Given the description of an element on the screen output the (x, y) to click on. 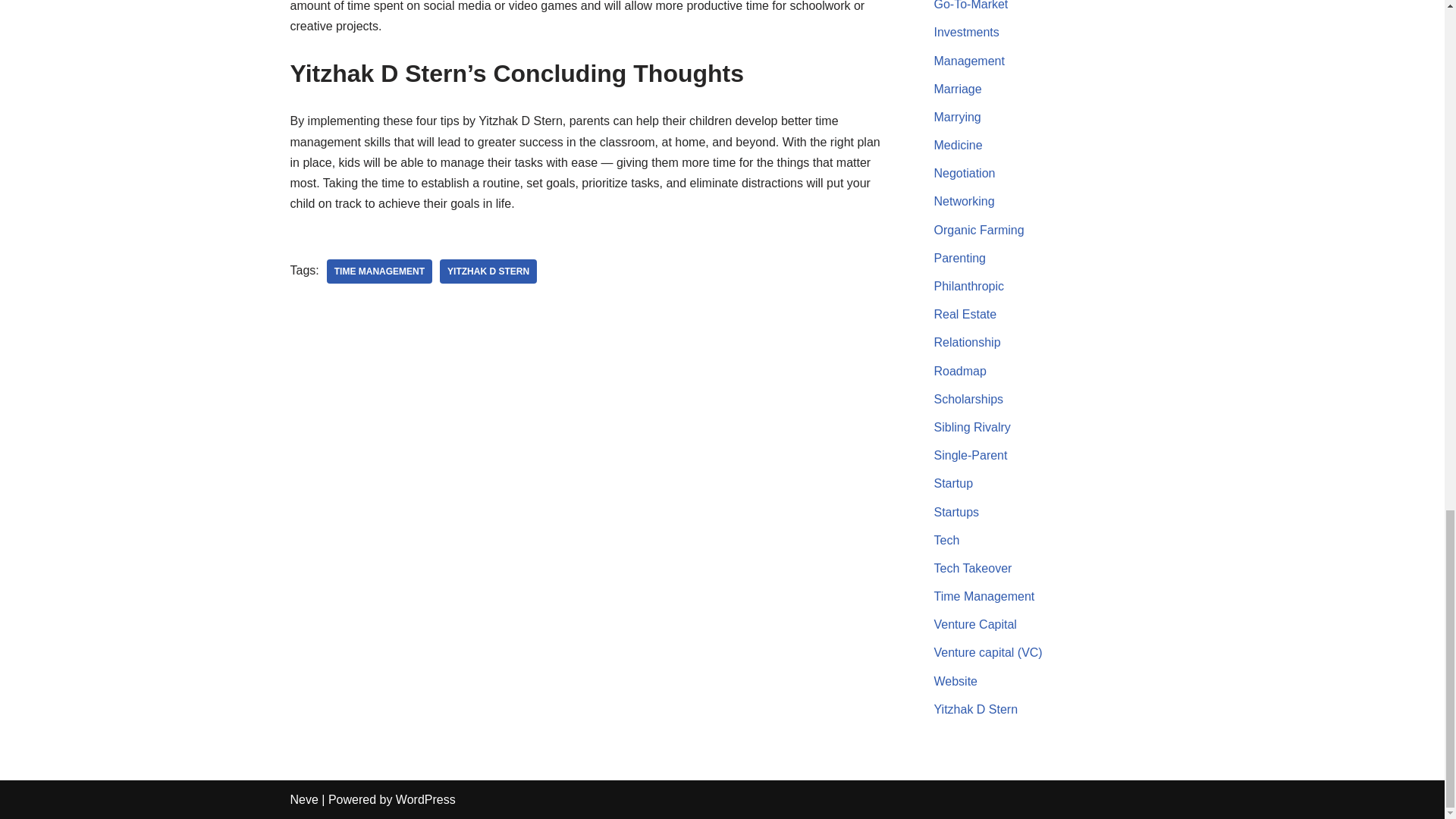
TIME MANAGEMENT (379, 271)
Time Management (379, 271)
Yitzhak D Stern (488, 271)
YITZHAK D STERN (488, 271)
